Given the description of an element on the screen output the (x, y) to click on. 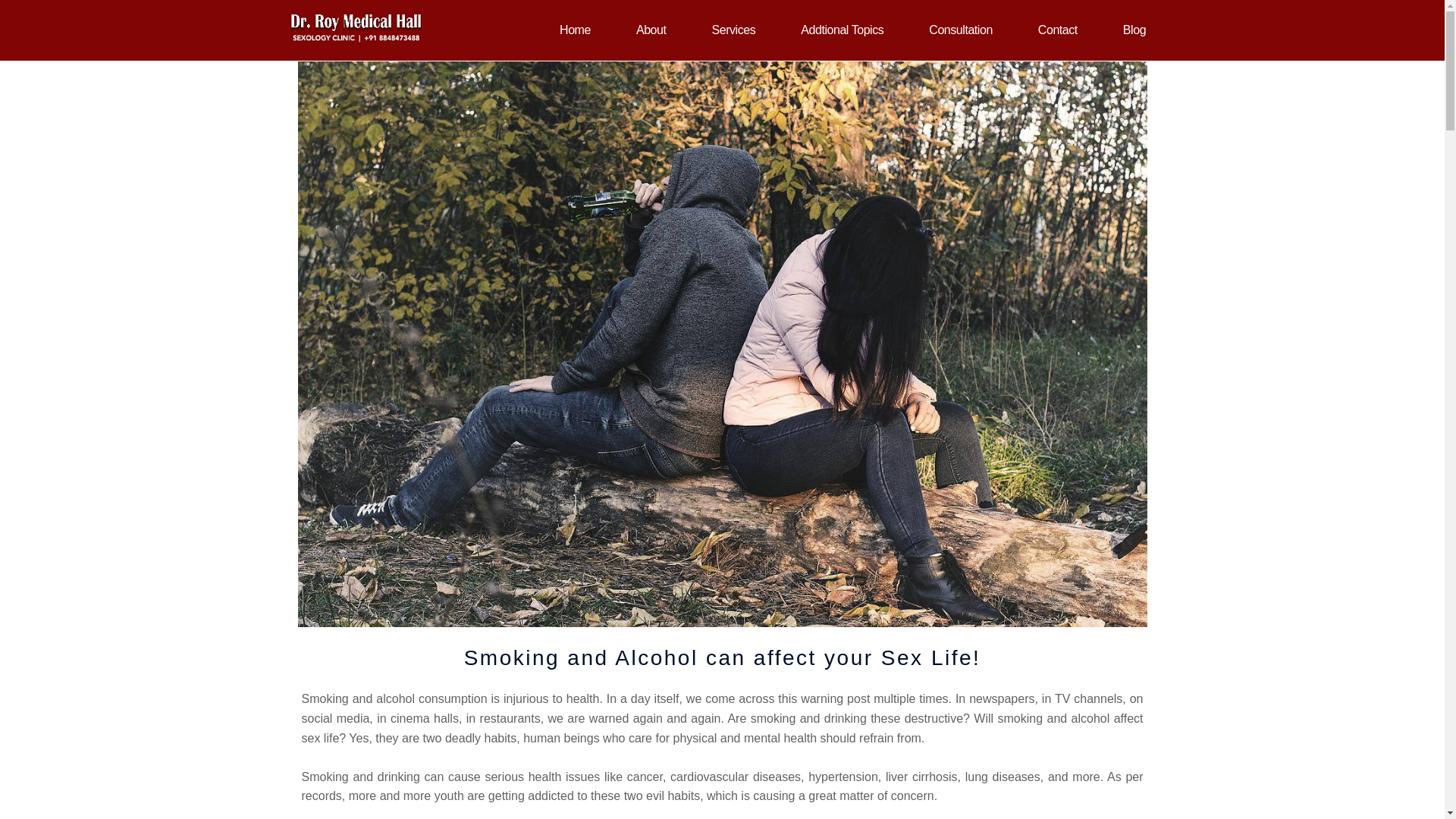
Blog (1134, 30)
Services (733, 30)
Contact (1057, 30)
Home (574, 30)
Addtional Topics (842, 30)
Consultation (960, 30)
About (651, 30)
